Given the description of an element on the screen output the (x, y) to click on. 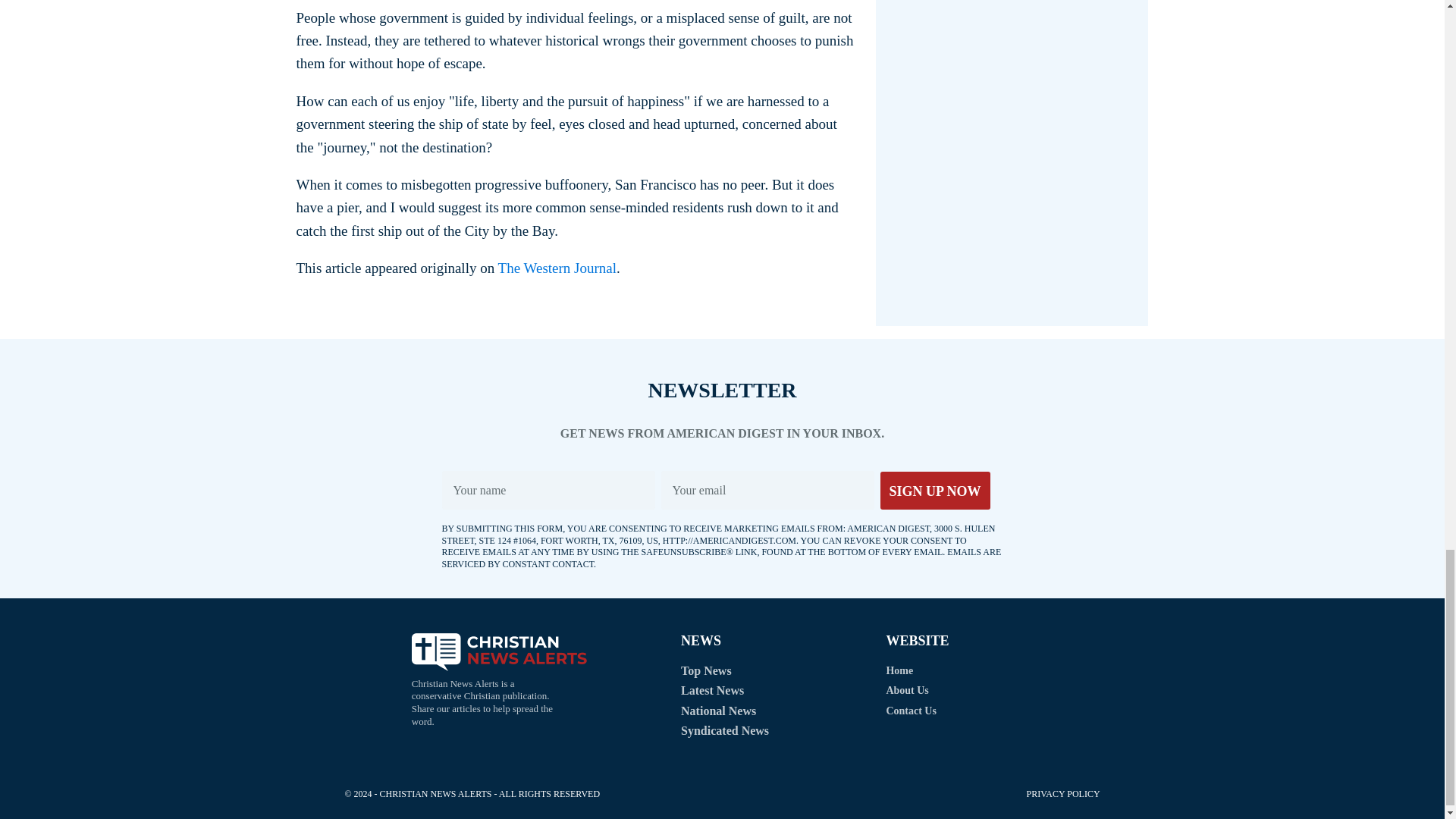
SIGN UP NOW (934, 490)
SIGN UP NOW (934, 490)
Latest News (712, 690)
The Western Journal (556, 268)
Top News (706, 670)
